Given the description of an element on the screen output the (x, y) to click on. 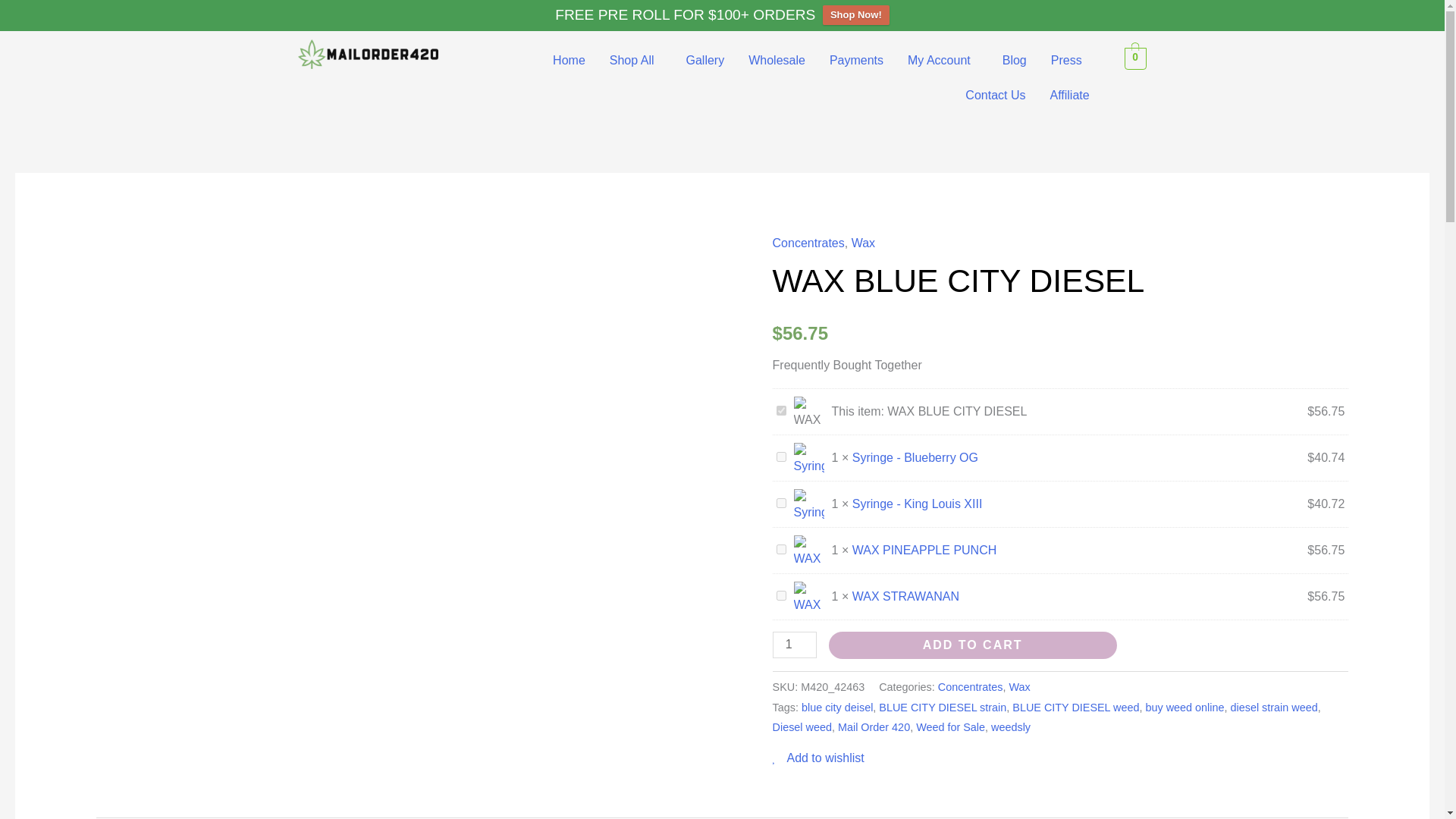
20049 (781, 549)
Shop Now! (855, 14)
My Account (942, 60)
Blog (1014, 60)
20051 (781, 595)
1524 (781, 502)
Wholesale (776, 60)
Home (568, 60)
View your shopping cart (1135, 57)
Gallery (704, 60)
